Given the description of an element on the screen output the (x, y) to click on. 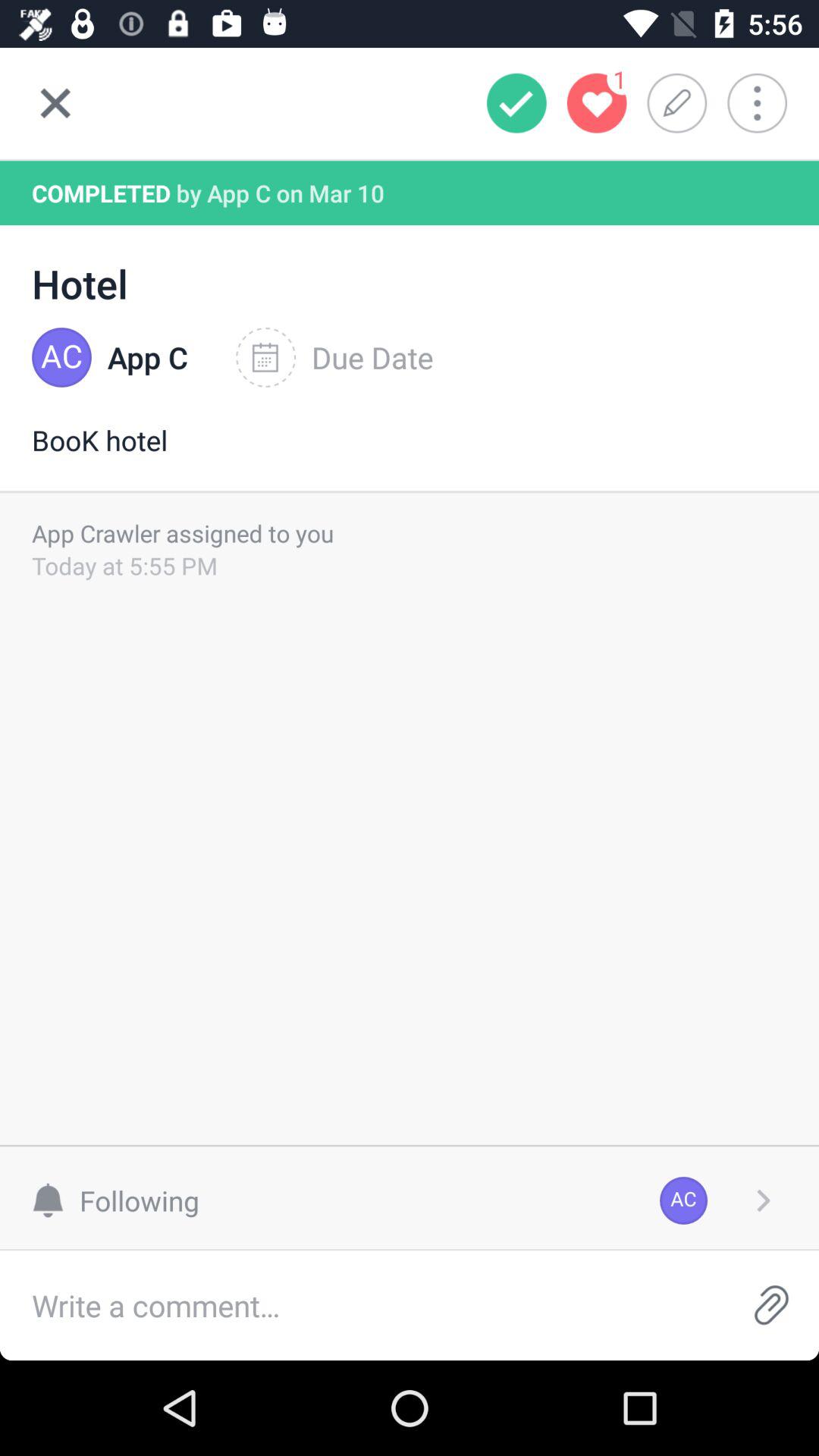
write the comment (361, 1305)
